Given the description of an element on the screen output the (x, y) to click on. 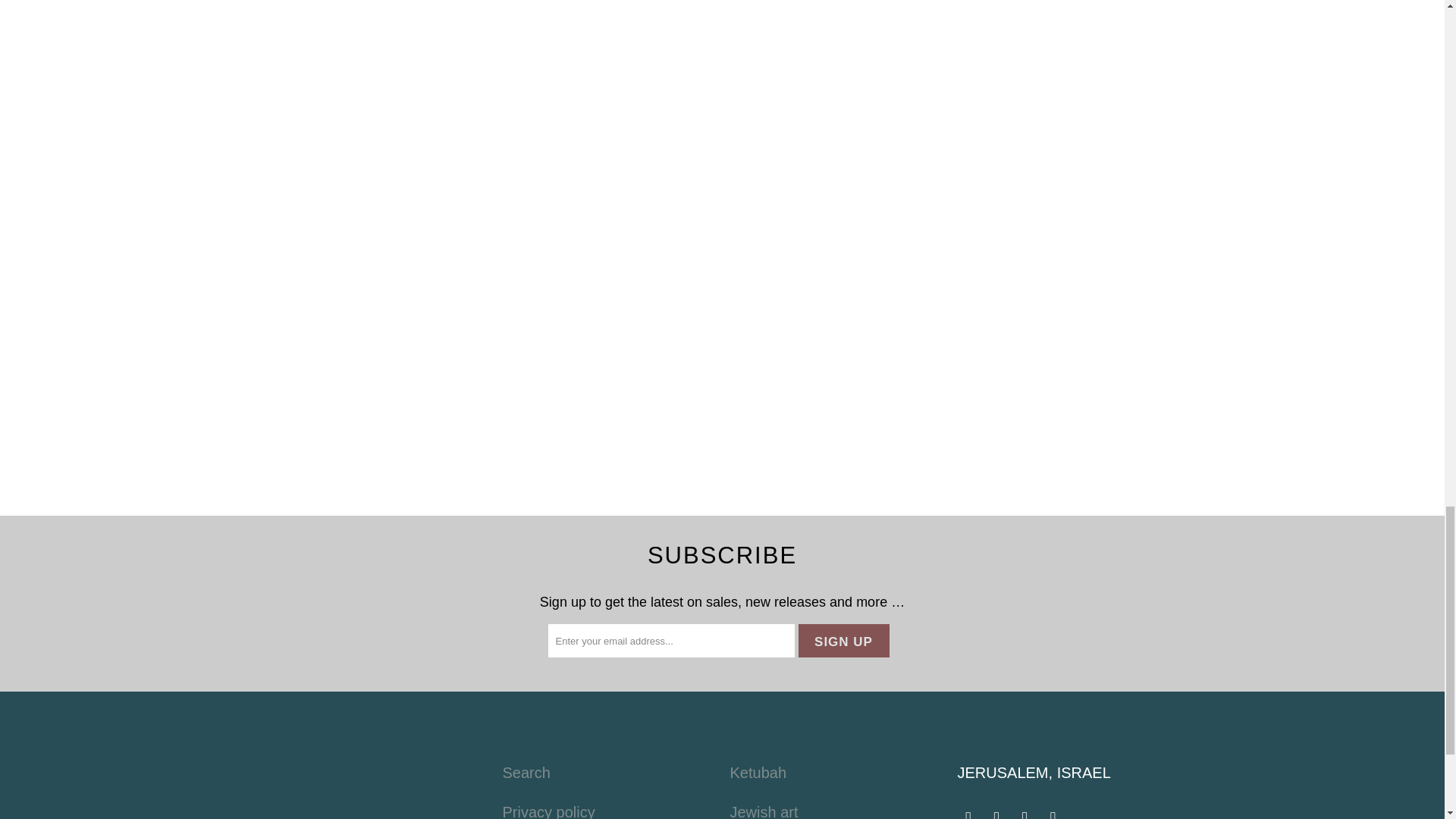
Sign Up (842, 640)
Ketubahome on Instagram (1053, 814)
Ketubahome on YouTube (997, 814)
Ketubahome on Pinterest (1024, 814)
Ketubahome on Facebook (967, 814)
